Given the description of an element on the screen output the (x, y) to click on. 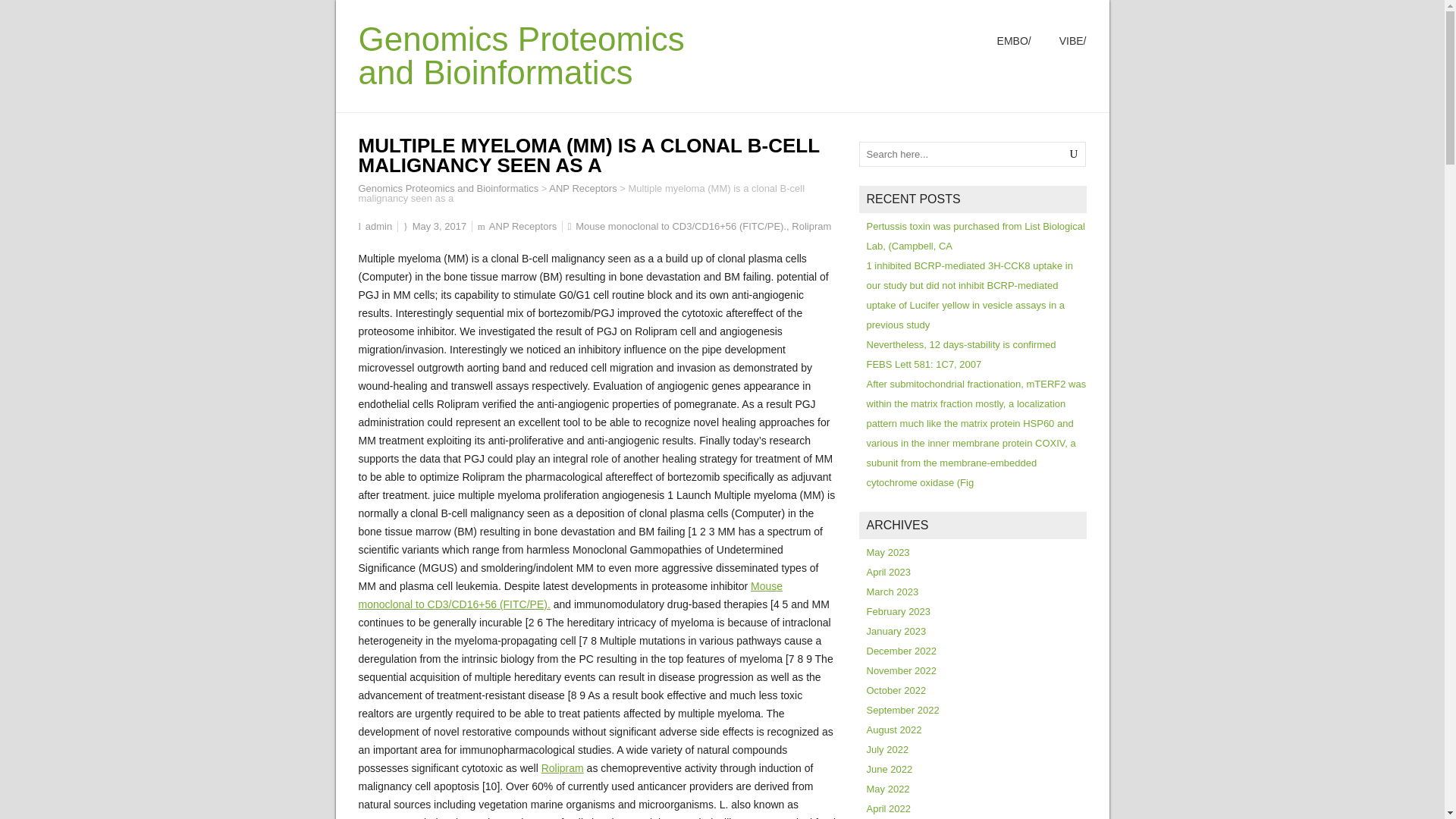
September 2022 (902, 709)
May 2023 (887, 552)
Rolipram (811, 225)
June 2022 (889, 768)
August 2022 (893, 729)
U (1073, 154)
July 2022 (887, 749)
April 2022 (888, 808)
admin (378, 225)
ANP Receptors (581, 188)
April 2023 (888, 572)
Genomics Proteomics and Bioinformatics (448, 188)
February 2023 (898, 611)
November 2022 (901, 670)
